Given the description of an element on the screen output the (x, y) to click on. 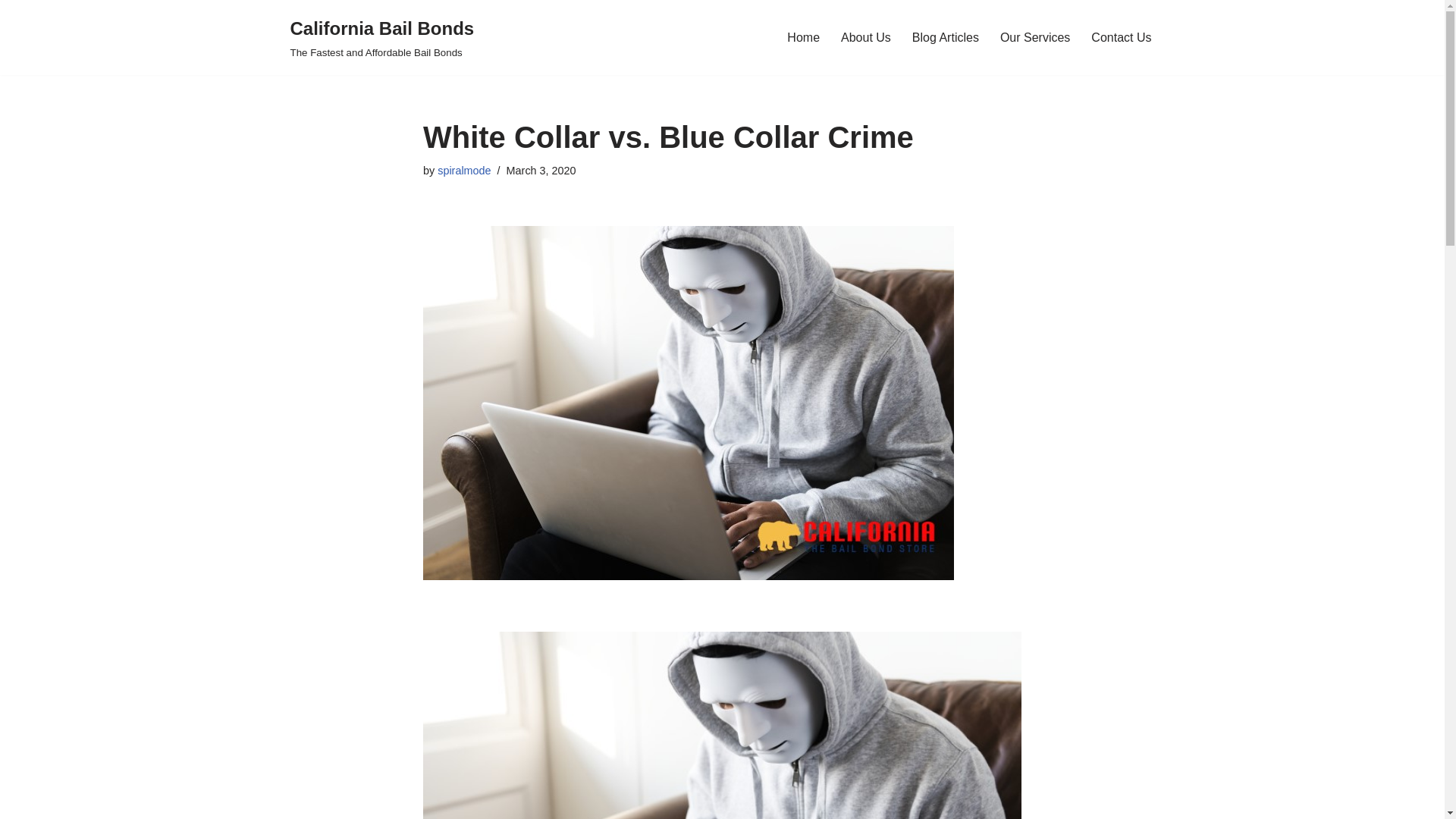
Skip to content (11, 31)
Posts by spiralmode (464, 170)
Our Services (381, 37)
spiralmode (1035, 37)
Contact Us (464, 170)
Blog Articles (1120, 37)
About Us (945, 37)
Home (866, 37)
